Given the description of an element on the screen output the (x, y) to click on. 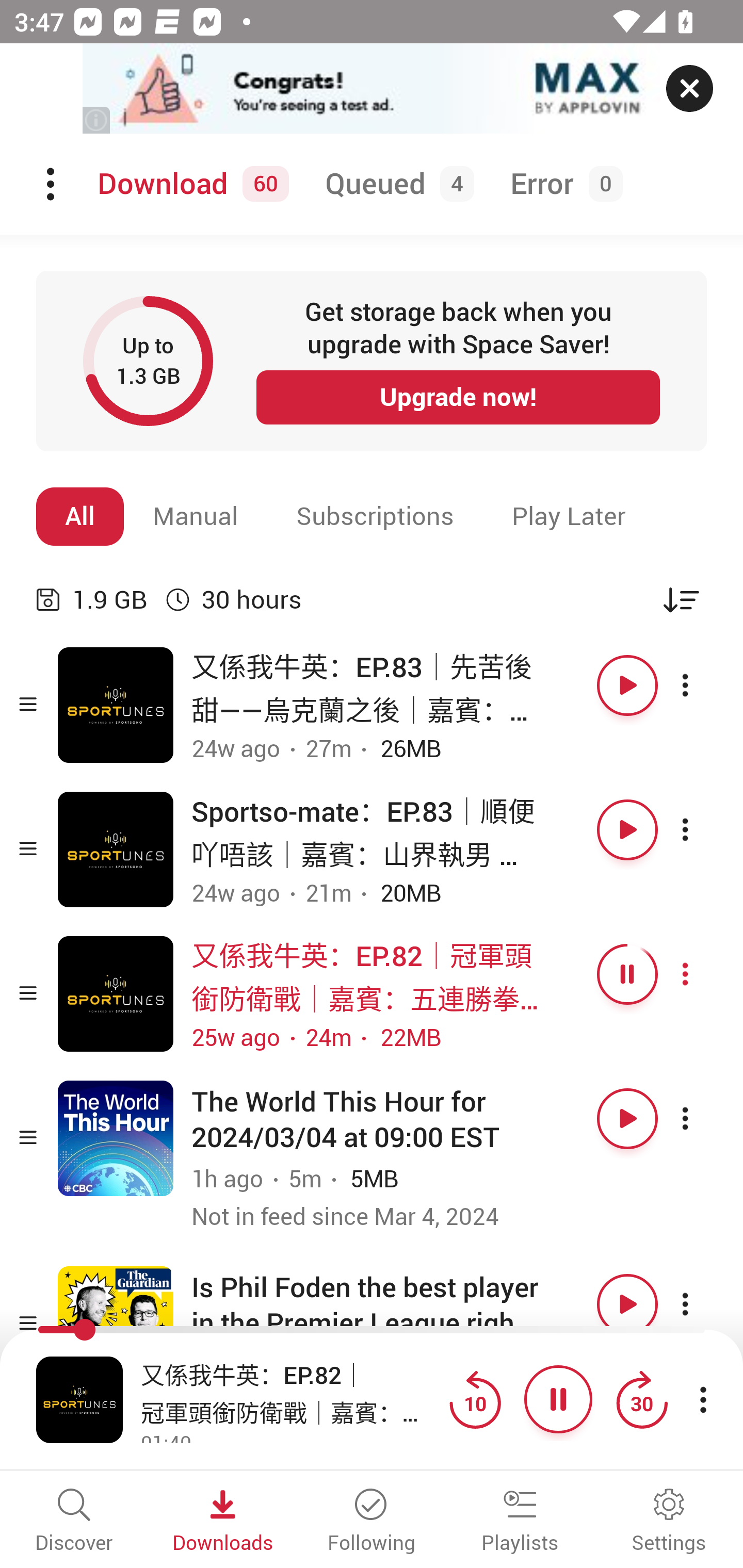
app-monetization (371, 88)
(i) (96, 119)
Menu (52, 184)
 Download 60 (189, 184)
 Queued 4 (396, 184)
 Error 0 (562, 184)
All (80, 516)
Manual (195, 516)
Subscriptions (374, 516)
Play Later (568, 516)
Change sort order (681, 599)
Play button (627, 685)
More options (703, 685)
Open series Sportunes HK (115, 705)
Play button (627, 830)
More options (703, 830)
Open series Sportunes HK (115, 849)
Pause button (627, 974)
More options (703, 974)
Open series Sportunes HK (115, 994)
Play button (627, 1118)
More options (703, 1118)
Open series The World This Hour (115, 1138)
Play button (627, 1304)
More options (703, 1304)
Open series Football Weekly (115, 1323)
Open fullscreen player (79, 1399)
又係我牛英：EP.82｜冠軍頭銜防衛戰｜嘉賓：五連勝拳后 楊曉茹 (290, 1392)
More player controls (703, 1399)
Pause button (558, 1398)
Jump back (475, 1399)
Jump forward (641, 1399)
Discover (74, 1521)
Downloads (222, 1521)
Following (371, 1521)
Playlists (519, 1521)
Settings (668, 1521)
